Given the description of an element on the screen output the (x, y) to click on. 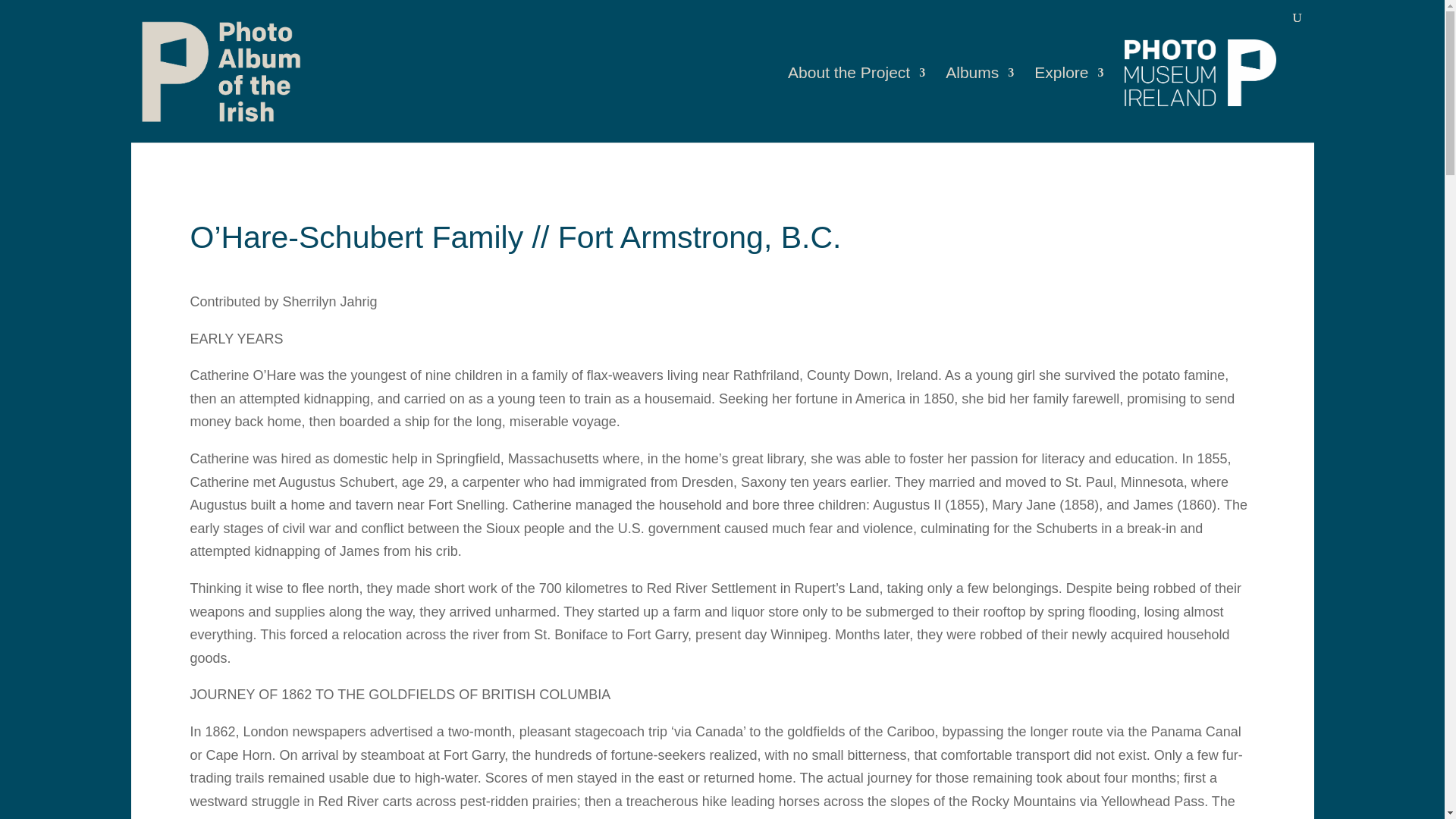
Albums (978, 104)
Explore (1068, 104)
About the Project (855, 104)
